Given the description of an element on the screen output the (x, y) to click on. 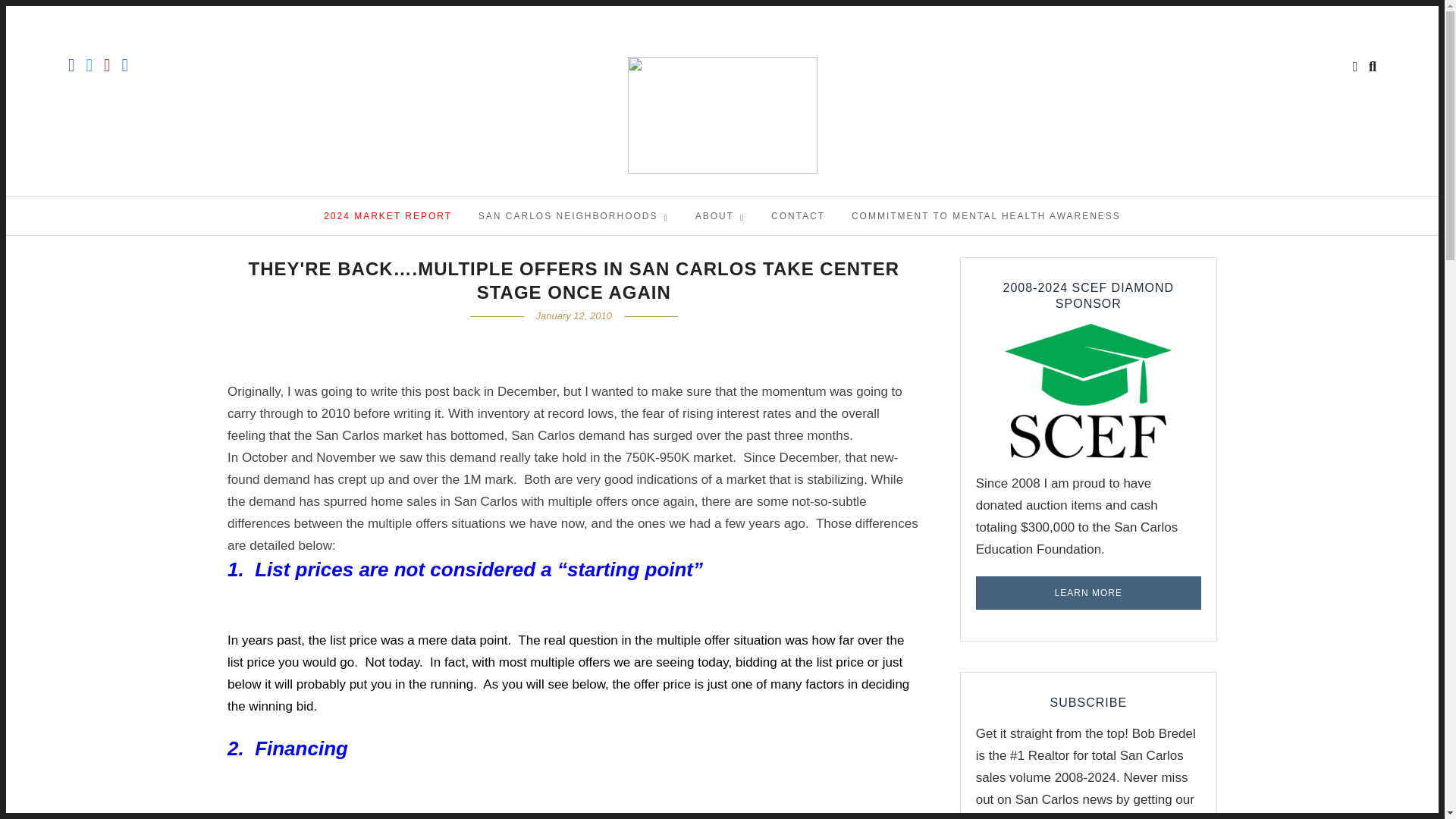
CONTACT (797, 216)
ABOUT (720, 216)
COMMITMENT TO MENTAL HEALTH AWARENESS (986, 216)
2024 MARKET REPORT (388, 216)
SAN CARLOS NEIGHBORHOODS (573, 216)
